Given the description of an element on the screen output the (x, y) to click on. 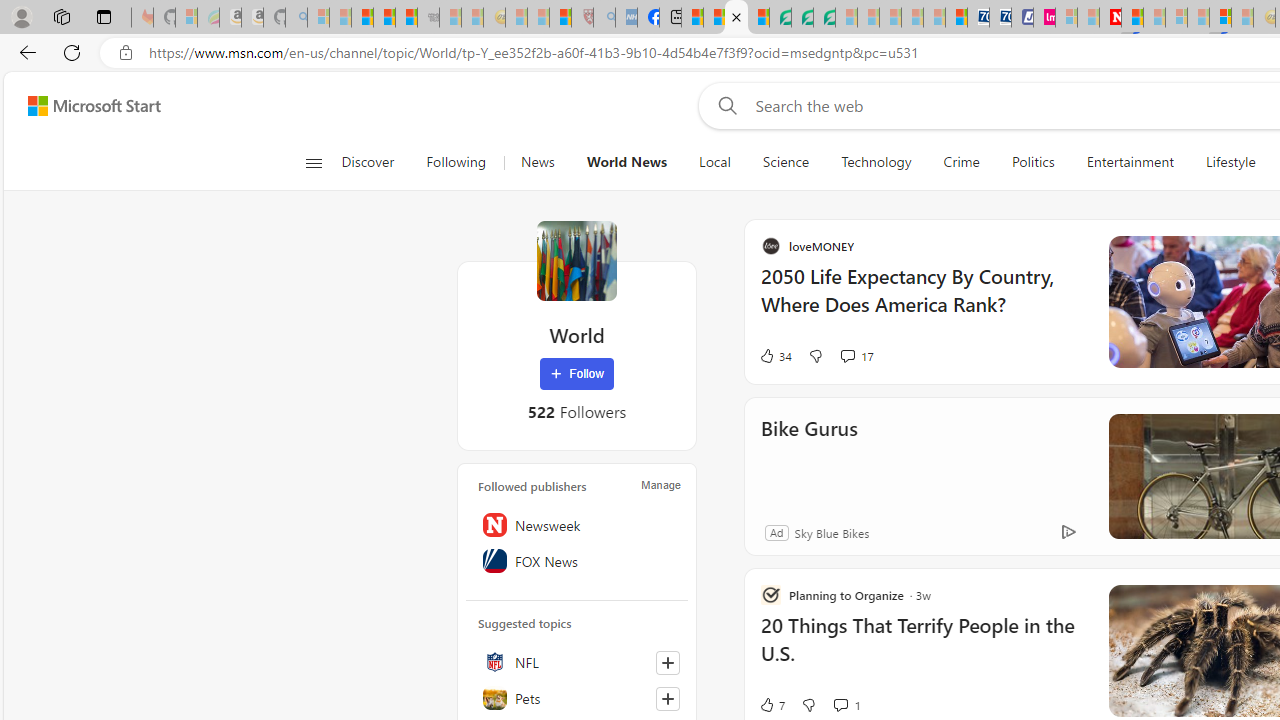
World (576, 260)
Cheap Hotels - Save70.com (1000, 17)
2050 Life Expectancy By Country, Where Does America Rank? (1115, 300)
